Given the description of an element on the screen output the (x, y) to click on. 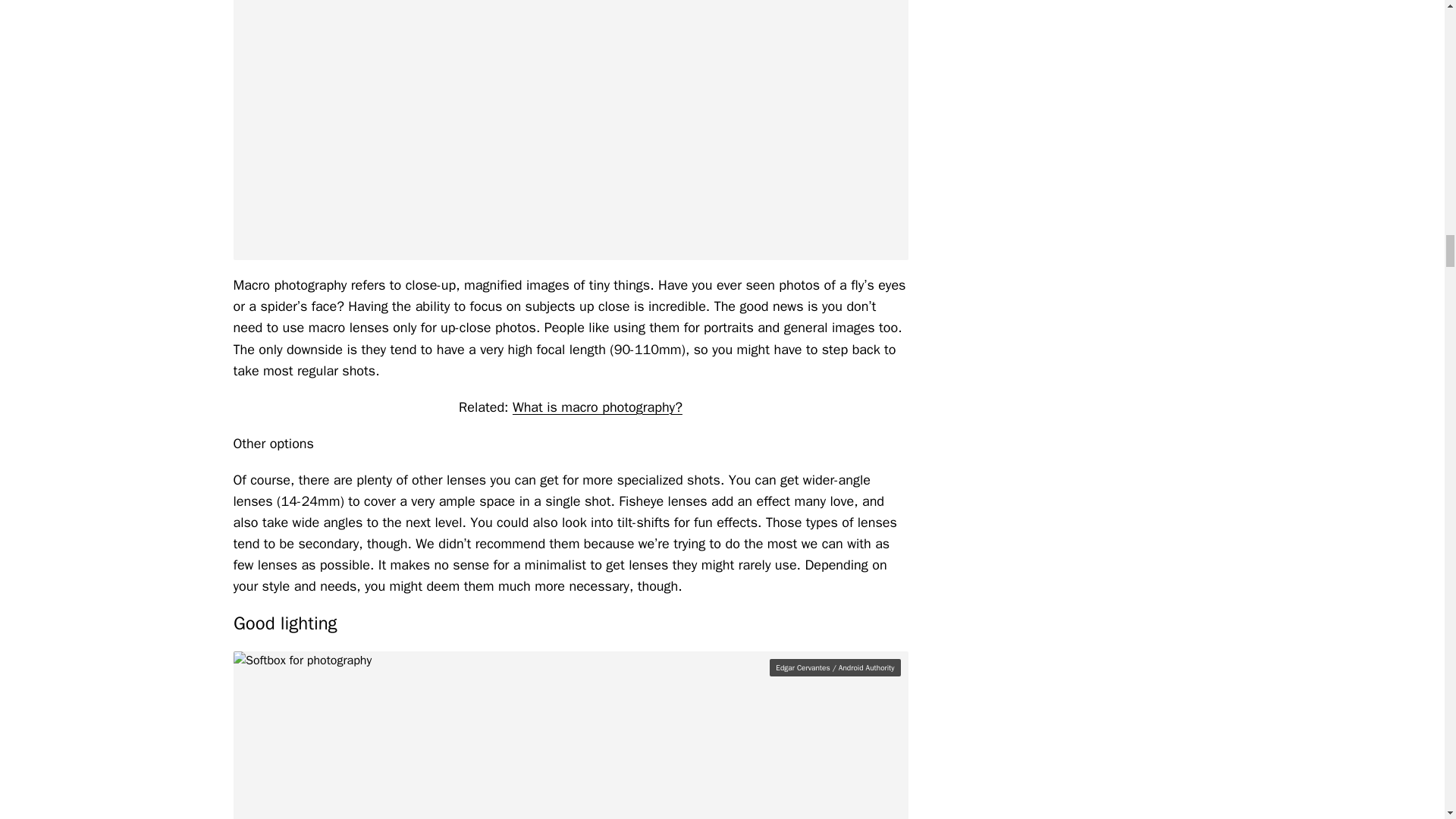
Softbox for photography (570, 735)
What is macro photography? (597, 406)
